Given the description of an element on the screen output the (x, y) to click on. 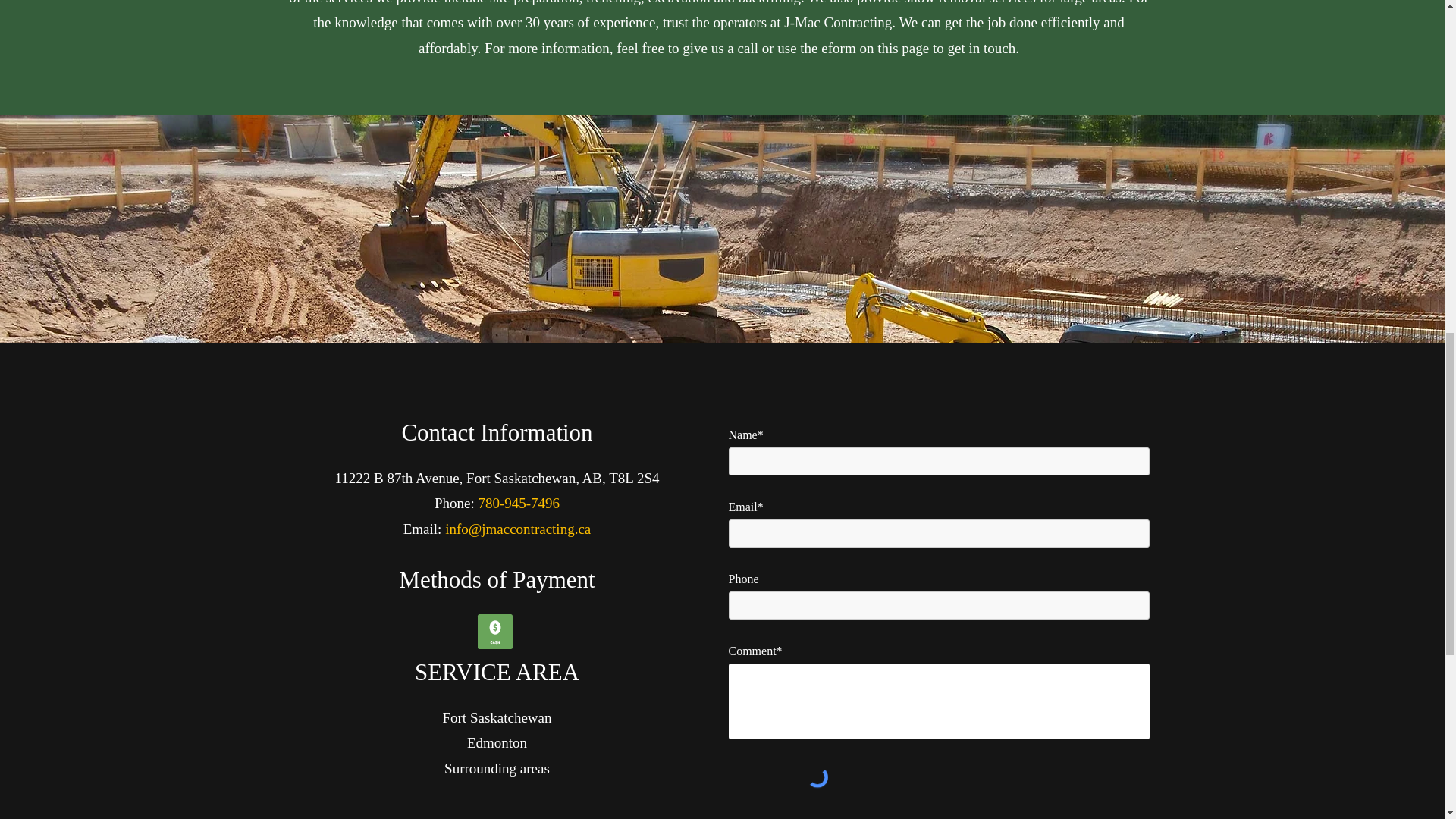
780-945-7496 (518, 503)
